Given the description of an element on the screen output the (x, y) to click on. 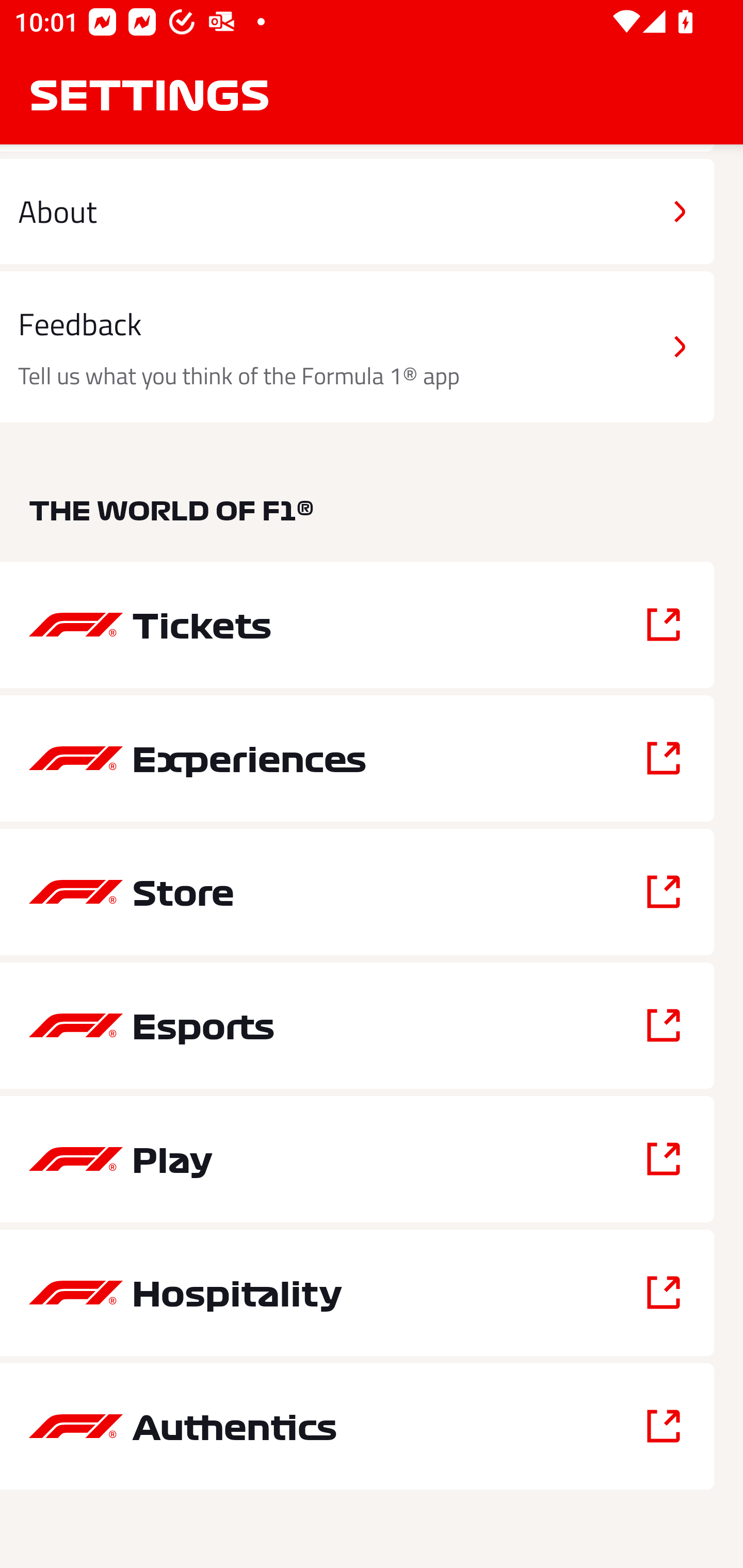
About (357, 210)
Tickets (357, 624)
Experiences (357, 757)
Store (357, 891)
Esports (357, 1025)
Play (357, 1159)
Hospitality (357, 1292)
Authentics (357, 1425)
